Given the description of an element on the screen output the (x, y) to click on. 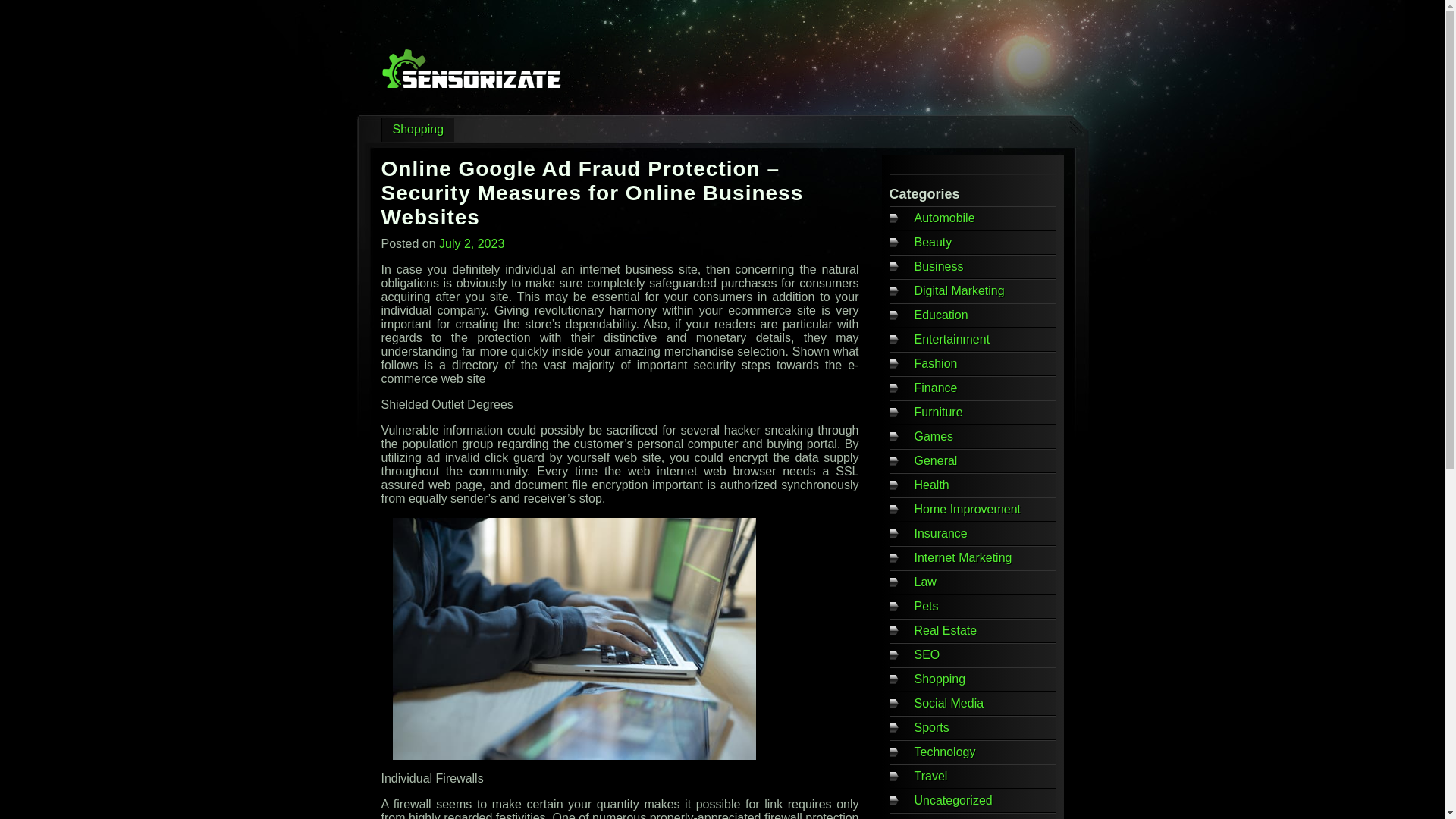
Home Improvement (968, 508)
Uncategorized (953, 799)
Entertainment (952, 338)
Social Media (949, 703)
Games (933, 436)
SEO (927, 654)
Real Estate (945, 630)
Insurance (941, 533)
Technology (944, 751)
General (936, 460)
Automobile (944, 217)
Health (931, 484)
Shopping (940, 678)
Sports (931, 727)
Beauty (933, 241)
